Given the description of an element on the screen output the (x, y) to click on. 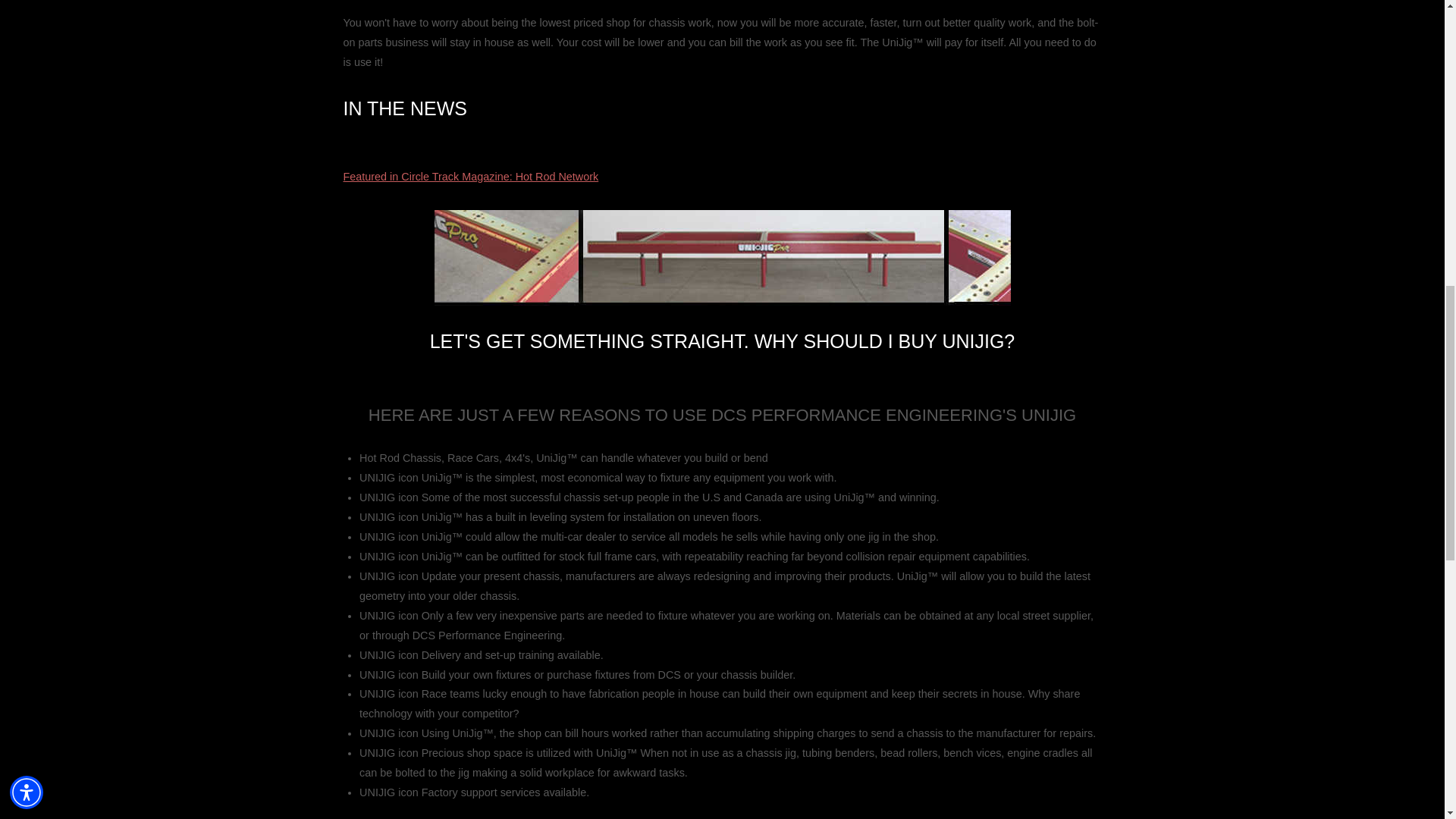
UNIJIG IMAGES (721, 257)
Featured in Circle Track Magazine: Hot Rod Network (470, 176)
